Given the description of an element on the screen output the (x, y) to click on. 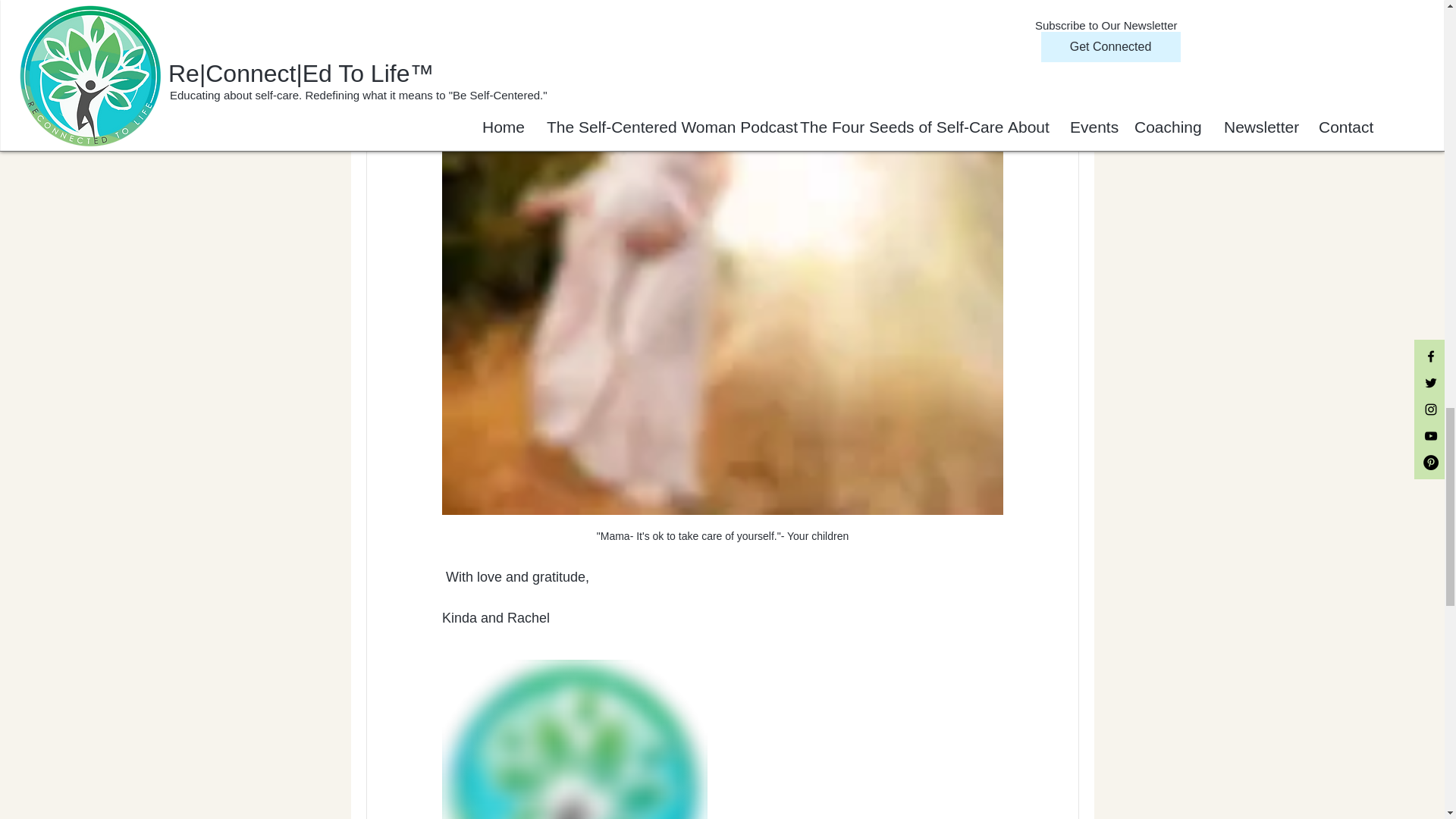
The Four Seeds of Self-Care (644, 2)
